Given the description of an element on the screen output the (x, y) to click on. 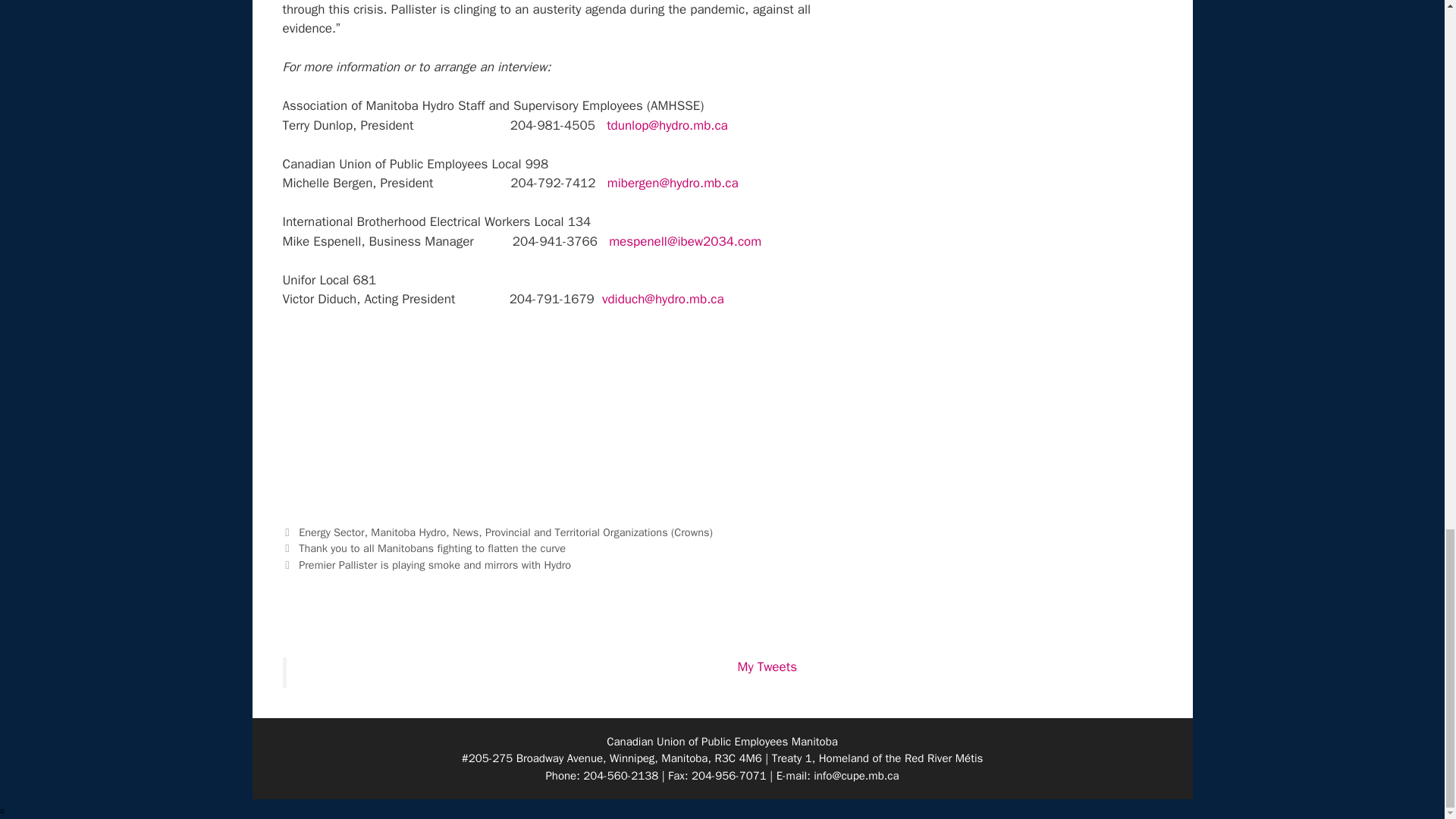
Next (426, 564)
Previous (423, 548)
